Given the description of an element on the screen output the (x, y) to click on. 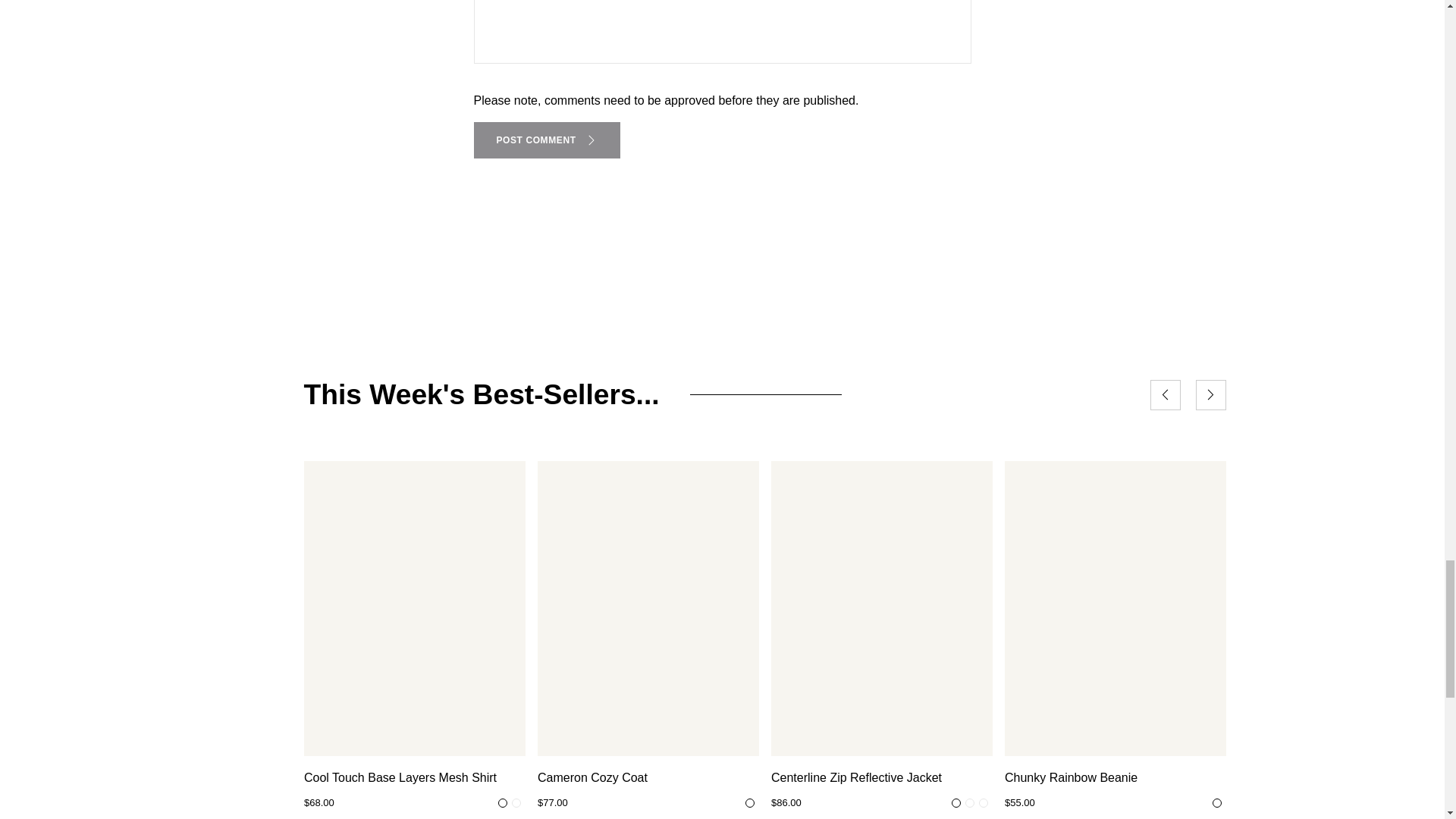
Next (1210, 395)
Centerline Zip Reflective Jacket (880, 777)
POST COMMENT (546, 140)
Cool Touch Base Layers Mesh Shirt (413, 777)
Cameron Cozy Coat (647, 777)
Previous (1164, 395)
